Given the description of an element on the screen output the (x, y) to click on. 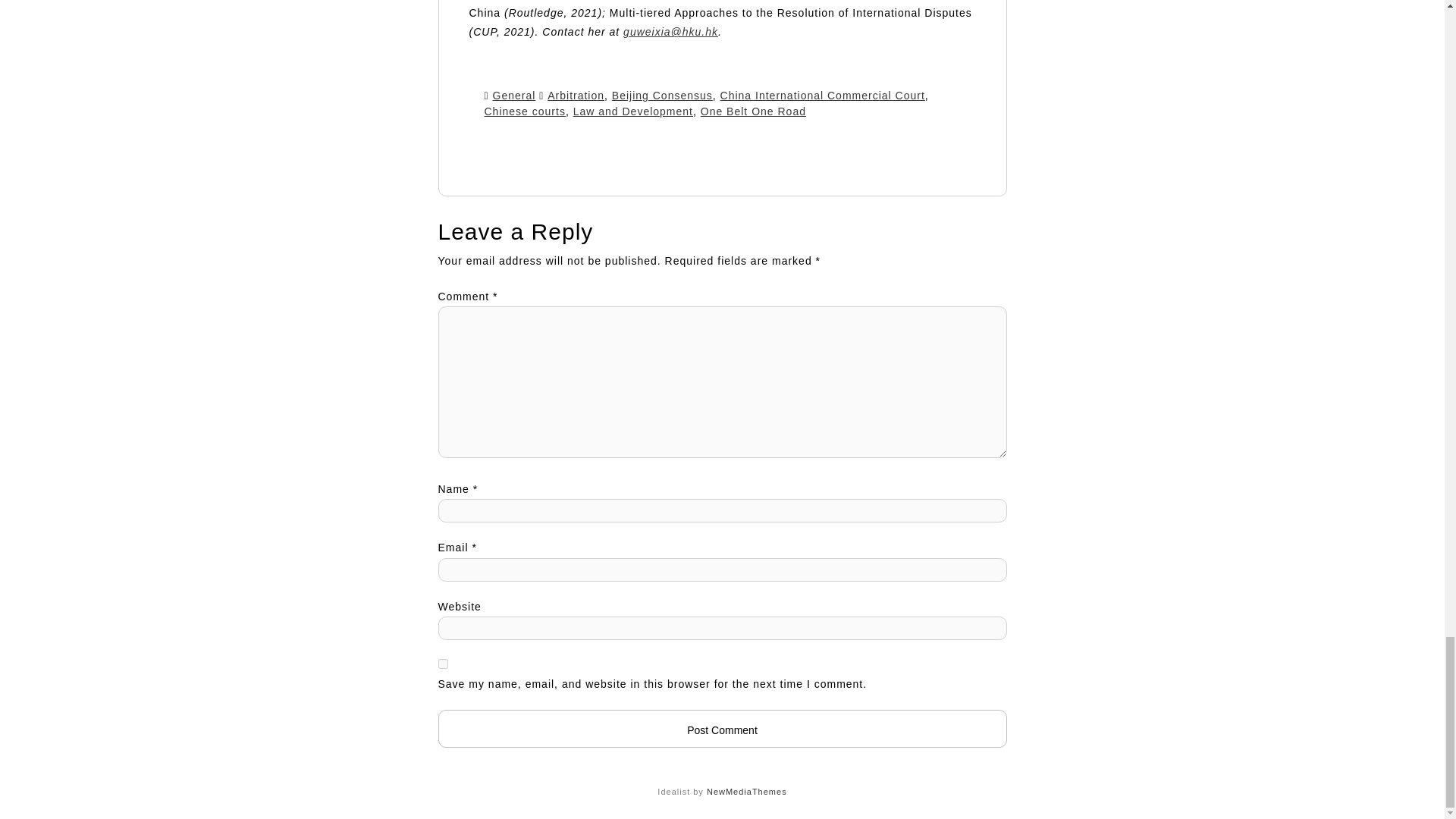
China International Commercial Court (822, 95)
Beijing Consensus (662, 95)
Post Comment (722, 728)
Post Comment (722, 728)
General (514, 95)
One Belt One Road (753, 111)
Chinese courts (523, 111)
Law and Development (633, 111)
NewMediaThemes (746, 791)
Arbitration (575, 95)
